Given the description of an element on the screen output the (x, y) to click on. 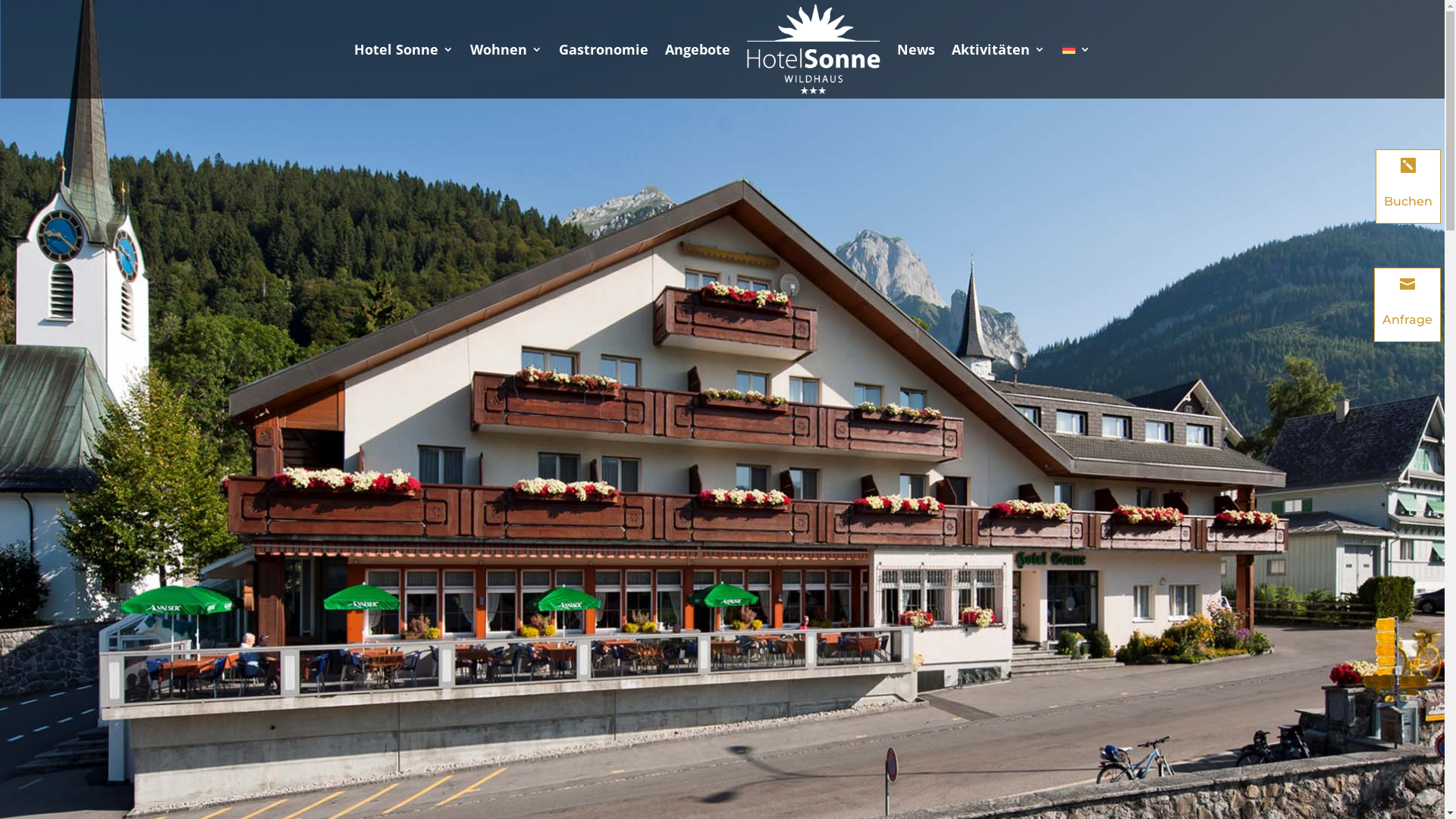
Wohnen Element type: text (506, 48)
Hotel Sonne Element type: text (402, 48)
Gastronomie Element type: text (602, 48)
News Element type: text (916, 48)
Angebote Element type: text (696, 48)
